Given the description of an element on the screen output the (x, y) to click on. 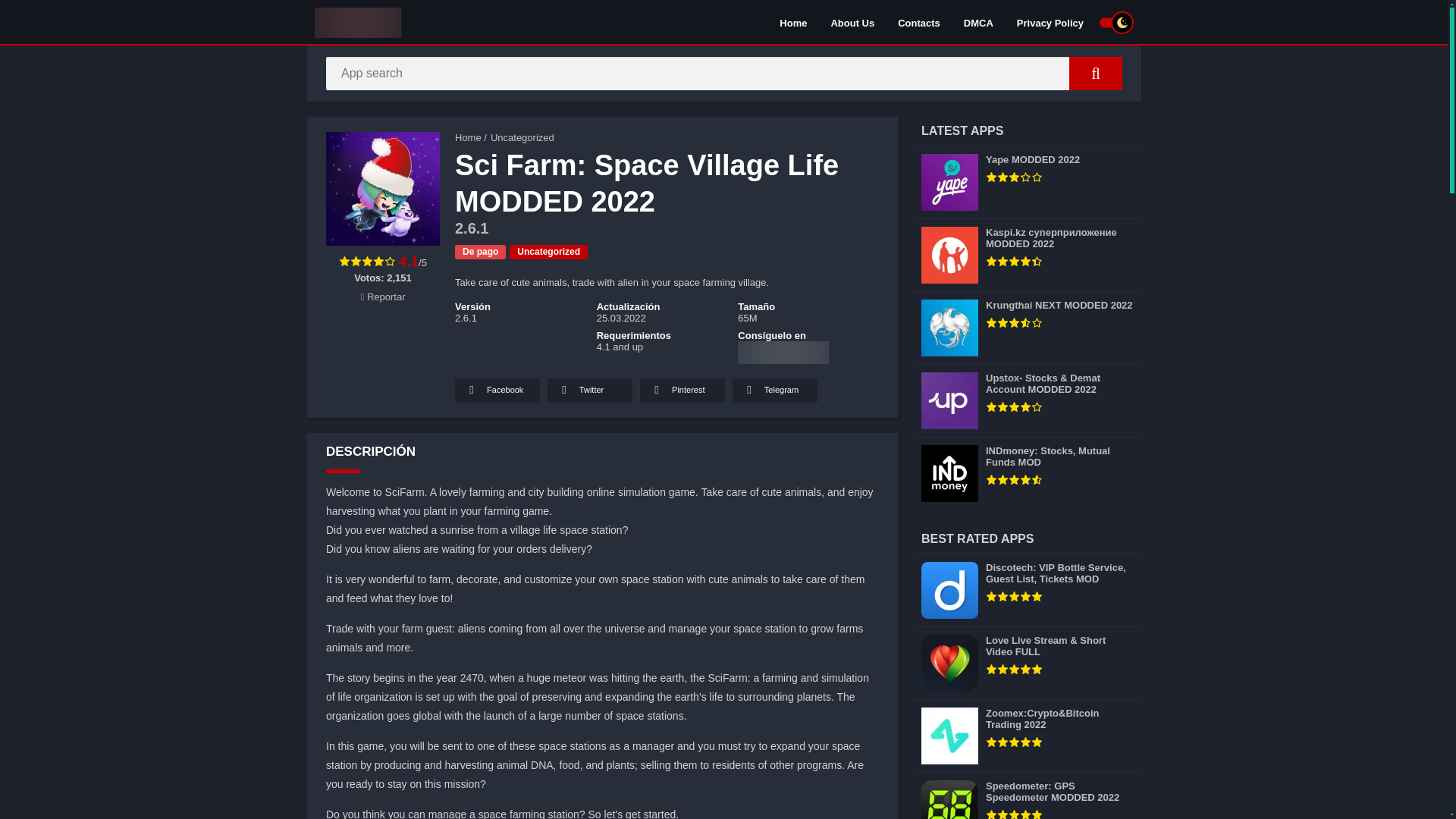
APK PEAK (467, 137)
Uncategorized (522, 137)
Contacts (919, 22)
Home (467, 137)
Uncategorized (548, 251)
Twitter (589, 390)
About Us (851, 22)
Facebook (497, 390)
App search (1095, 73)
DMCA (978, 22)
